Given the description of an element on the screen output the (x, y) to click on. 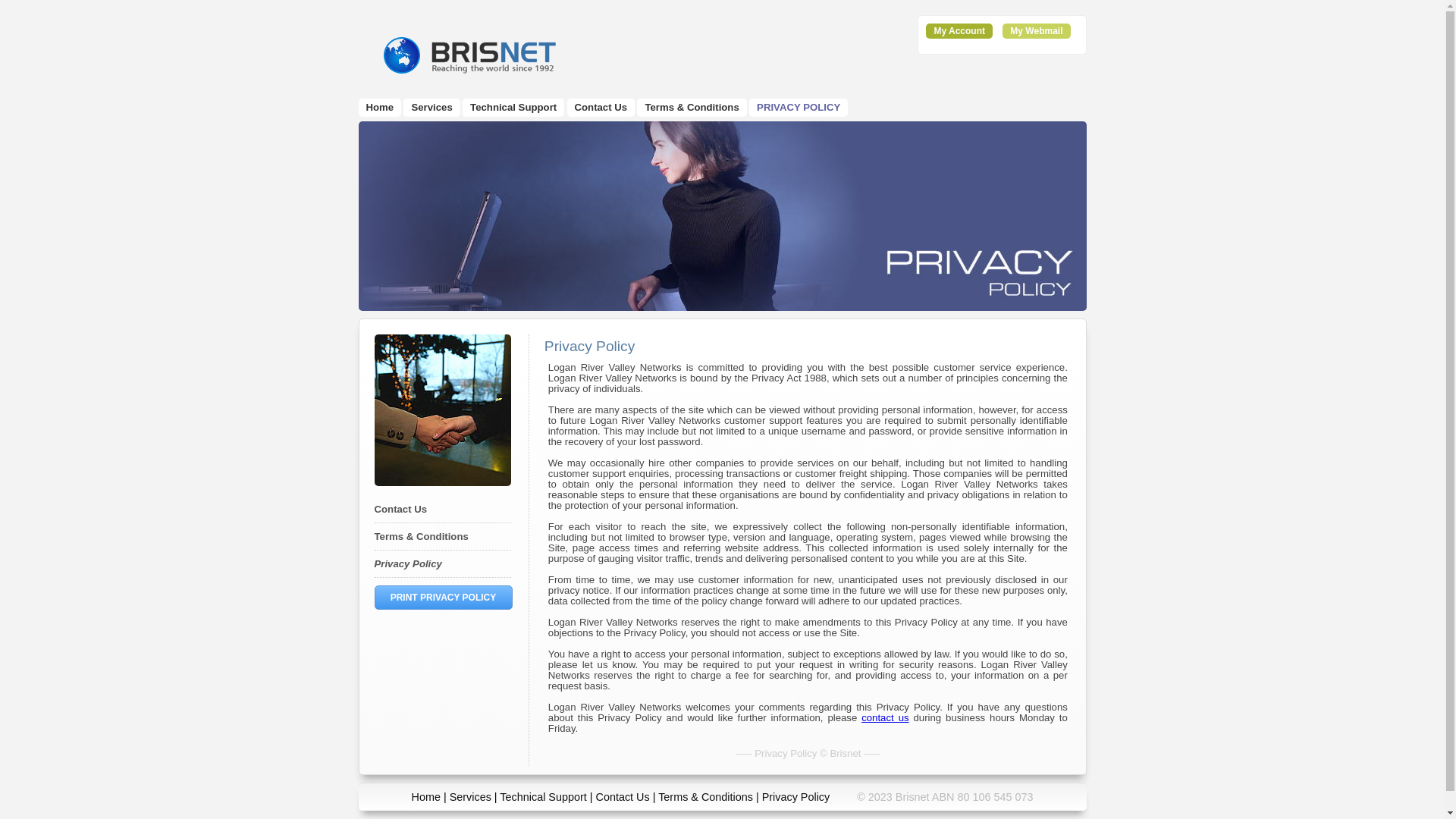
Terms & Conditions Element type: text (691, 106)
Contact Us Element type: text (600, 106)
Terms & Conditions Element type: text (421, 536)
Brisnet Element type: hover (468, 54)
Services Element type: text (470, 796)
Contact Us Element type: text (622, 796)
contact us Element type: text (884, 717)
My Account Element type: text (959, 30)
Terms & Conditions | Element type: text (710, 796)
PRIVACY POLICY Element type: text (798, 106)
Privacy Policy Element type: text (796, 796)
Home Element type: text (425, 796)
Services Element type: text (431, 106)
Technical Support Element type: text (542, 796)
Privacy Policy Element type: text (408, 563)
My Webmail Element type: text (1036, 30)
Technical Support Element type: text (513, 106)
PRINT PRIVACY POLICY Element type: text (443, 597)
Home Element type: text (379, 106)
Contact Us Element type: text (400, 508)
